Given the description of an element on the screen output the (x, y) to click on. 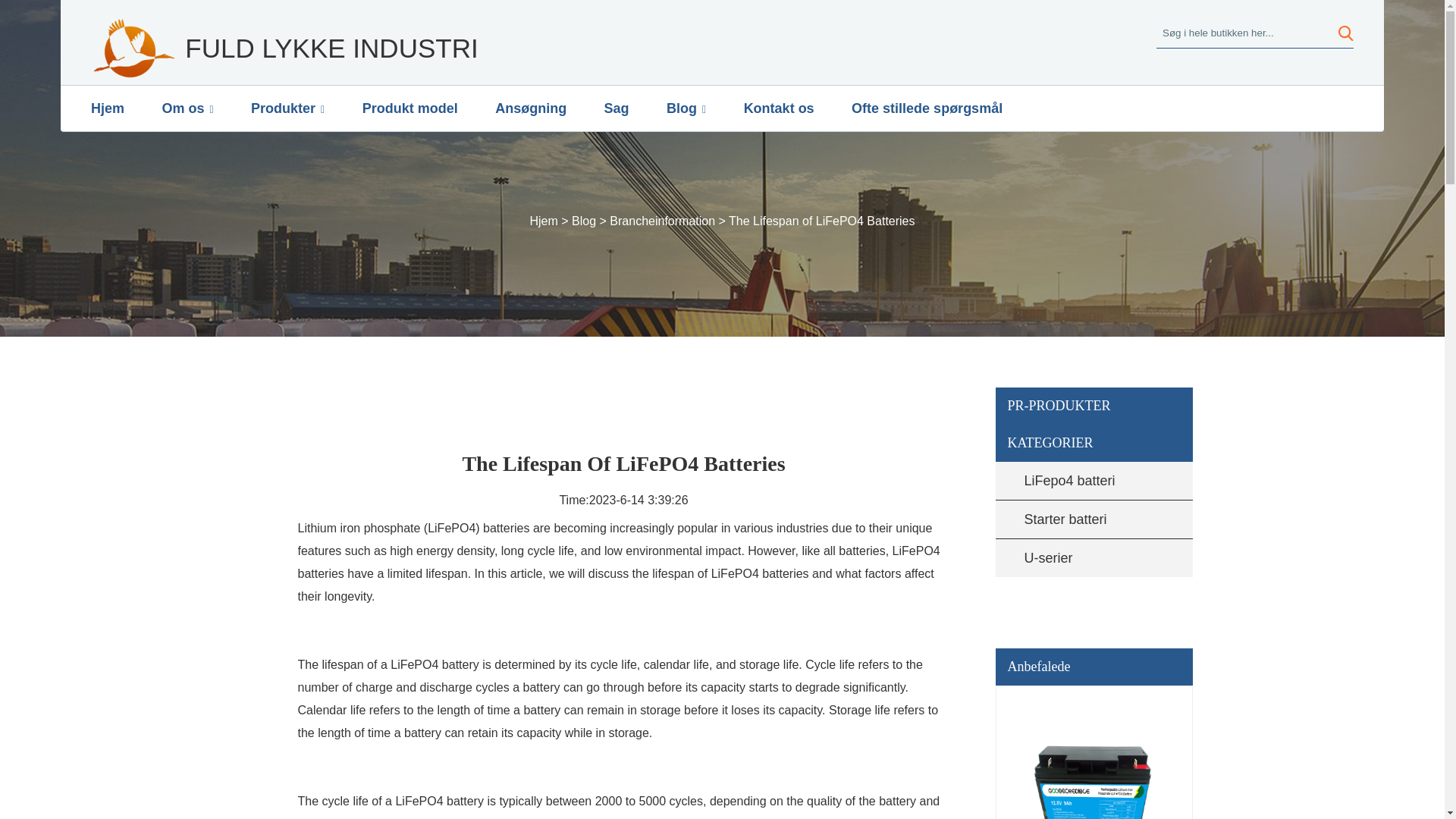
Blog (583, 220)
Produkt model (410, 108)
FULD LYKKE INDUSTRI (284, 48)
U-serier (1078, 557)
Om os (186, 108)
Brancheinformation (662, 220)
LiFepo4 batteri (1078, 480)
Starter batteri (1078, 519)
Produkter (287, 108)
Hjem (543, 220)
